Given the description of an element on the screen output the (x, y) to click on. 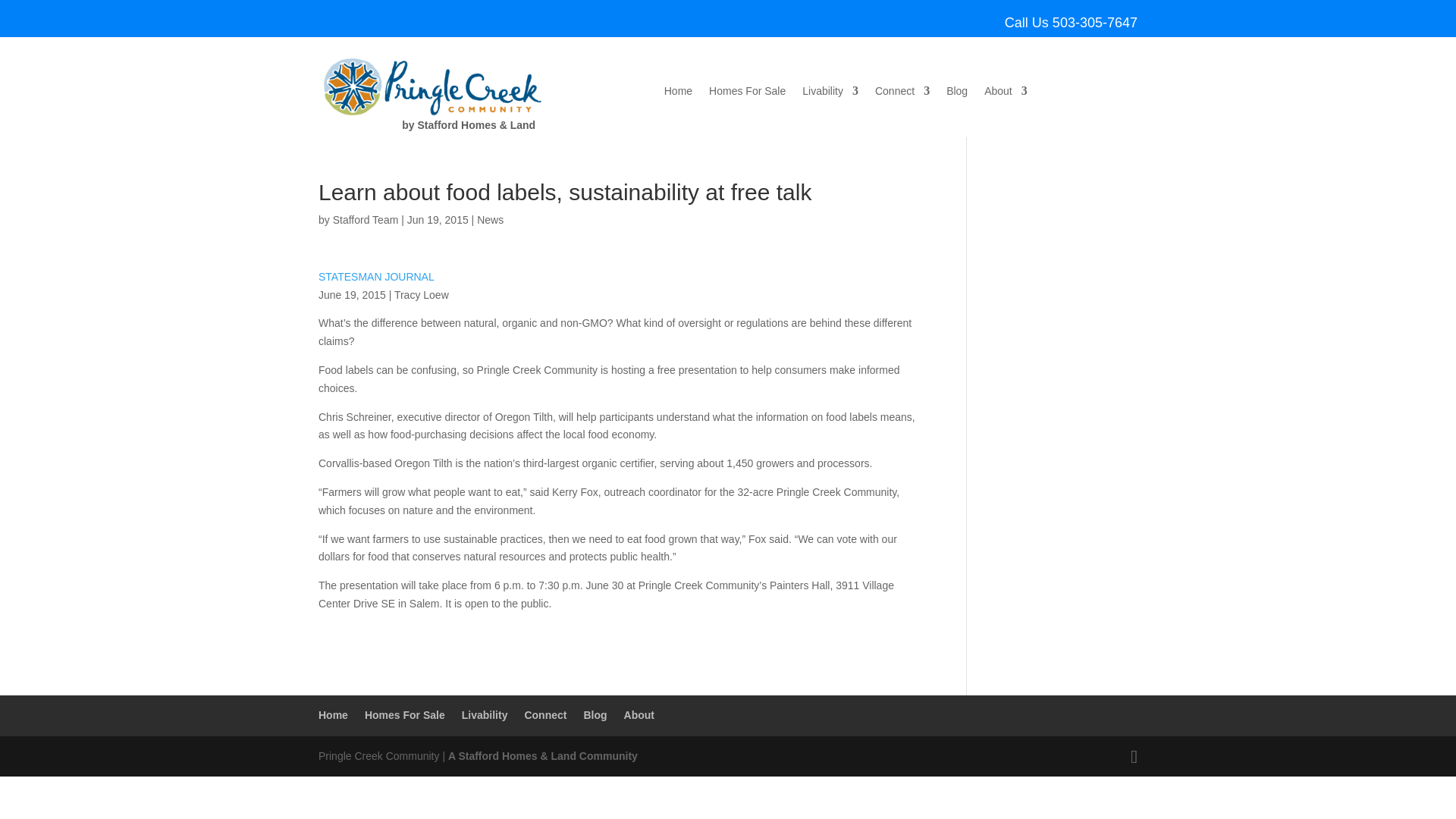
Blog (957, 93)
Connect (902, 93)
pringle creek community - logo (435, 86)
About (1005, 93)
Homes For Sale (747, 93)
Stafford Team (365, 219)
Livability (830, 93)
Posts by Stafford Team (365, 219)
Home (678, 93)
